Given the description of an element on the screen output the (x, y) to click on. 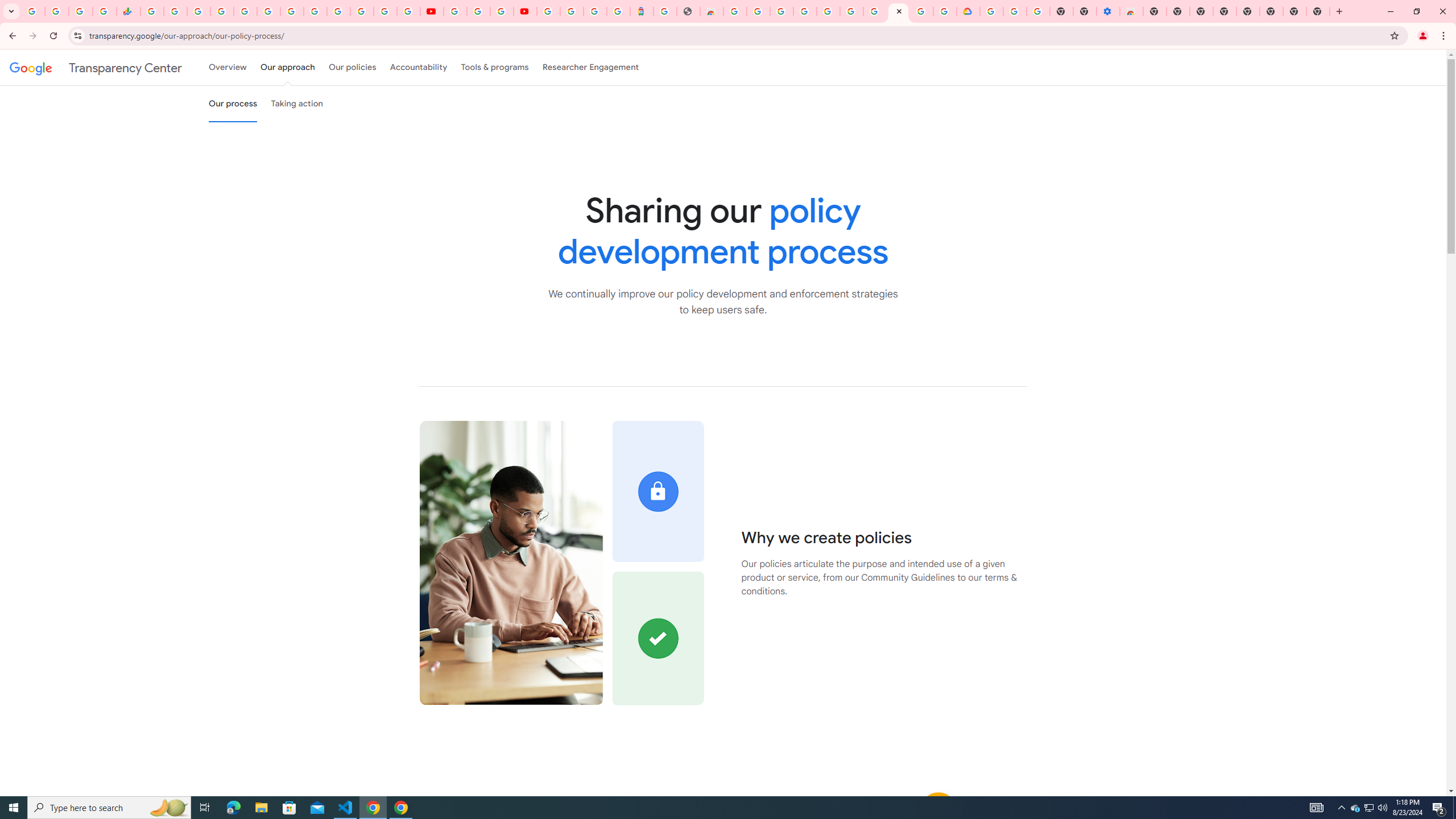
Google Account Help (874, 11)
Sign in - Google Accounts (571, 11)
Privacy Checkup (408, 11)
Our process (232, 103)
Sign in - Google Accounts (338, 11)
Content Creator Programs & Opportunities - YouTube Creators (524, 11)
Sign in - Google Accounts (827, 11)
Create your Google Account (921, 11)
Accountability (418, 67)
YouTube (454, 11)
